Given the description of an element on the screen output the (x, y) to click on. 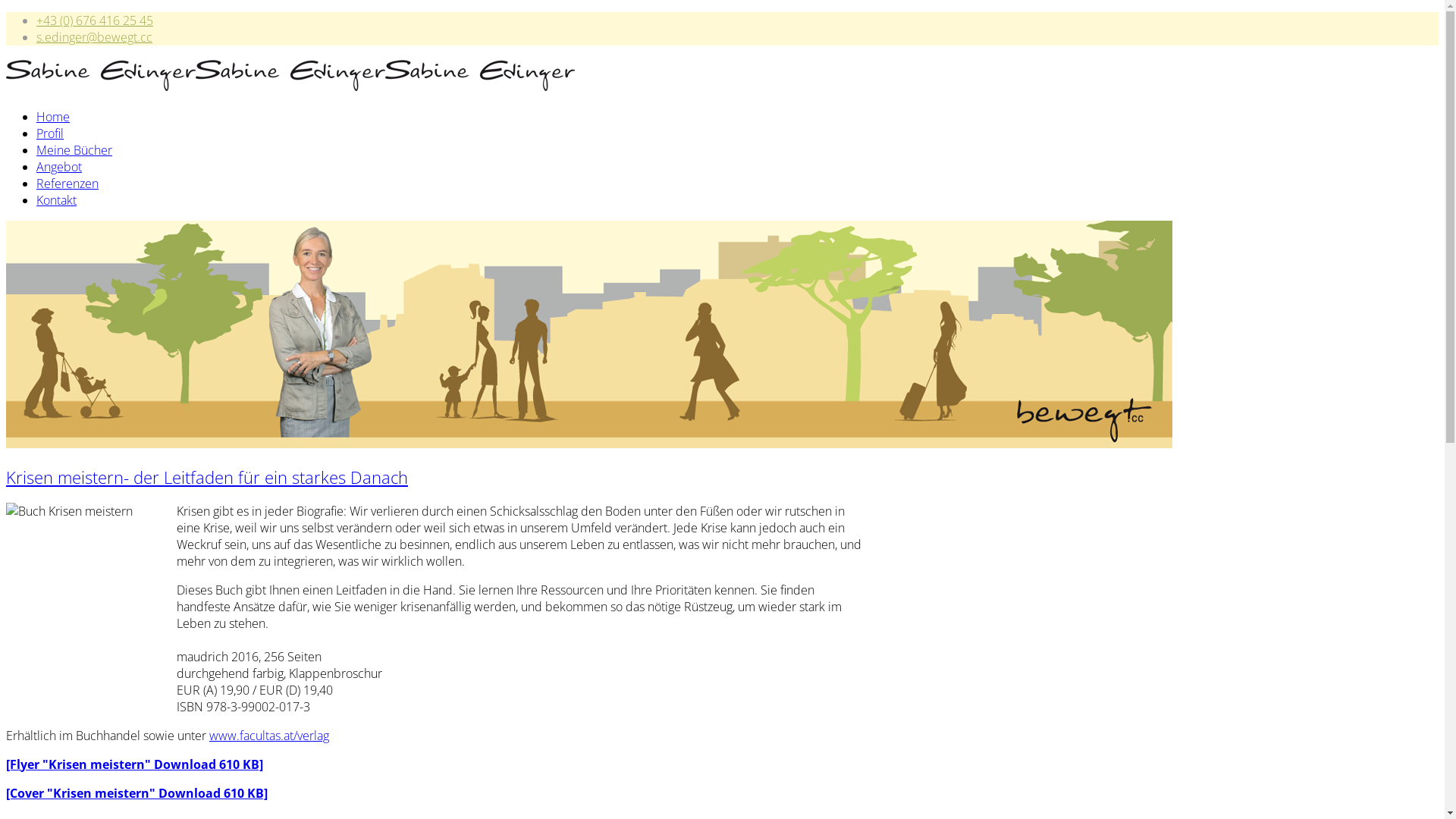
+43 (0) 676 416 25 45 Element type: text (94, 20)
Home Element type: text (52, 116)
[Flyer "Krisen meistern" Download 610 KB] Element type: text (134, 764)
Kontakt Element type: text (56, 199)
Profil Element type: text (49, 133)
[Cover "Krisen meistern" Download 610 KB] Element type: text (136, 792)
Referenzen Element type: text (67, 183)
Buch Krisen meistern Element type: hover (91, 599)
Angebot Element type: text (58, 166)
s.edinger@bewegt.cc Element type: text (94, 36)
www.facultas.at/verlag Element type: text (269, 735)
